Given the description of an element on the screen output the (x, y) to click on. 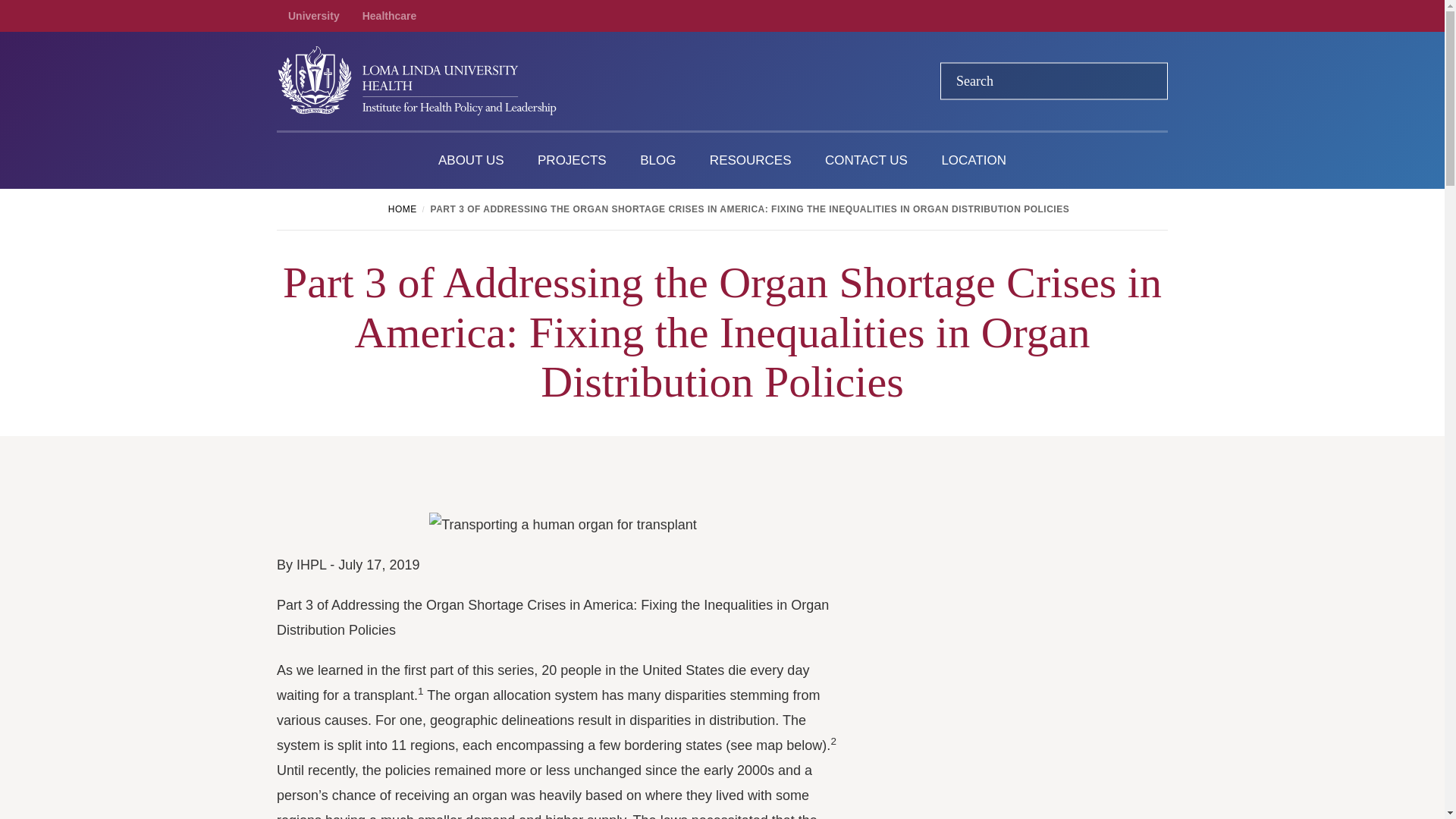
Healthcare (389, 15)
RESOURCES (750, 160)
BLOG (657, 160)
University (313, 15)
PROJECTS (571, 160)
HOME (400, 209)
submit (1145, 80)
ABOUT US (471, 160)
LOCATION (974, 160)
submit (1145, 80)
